Given the description of an element on the screen output the (x, y) to click on. 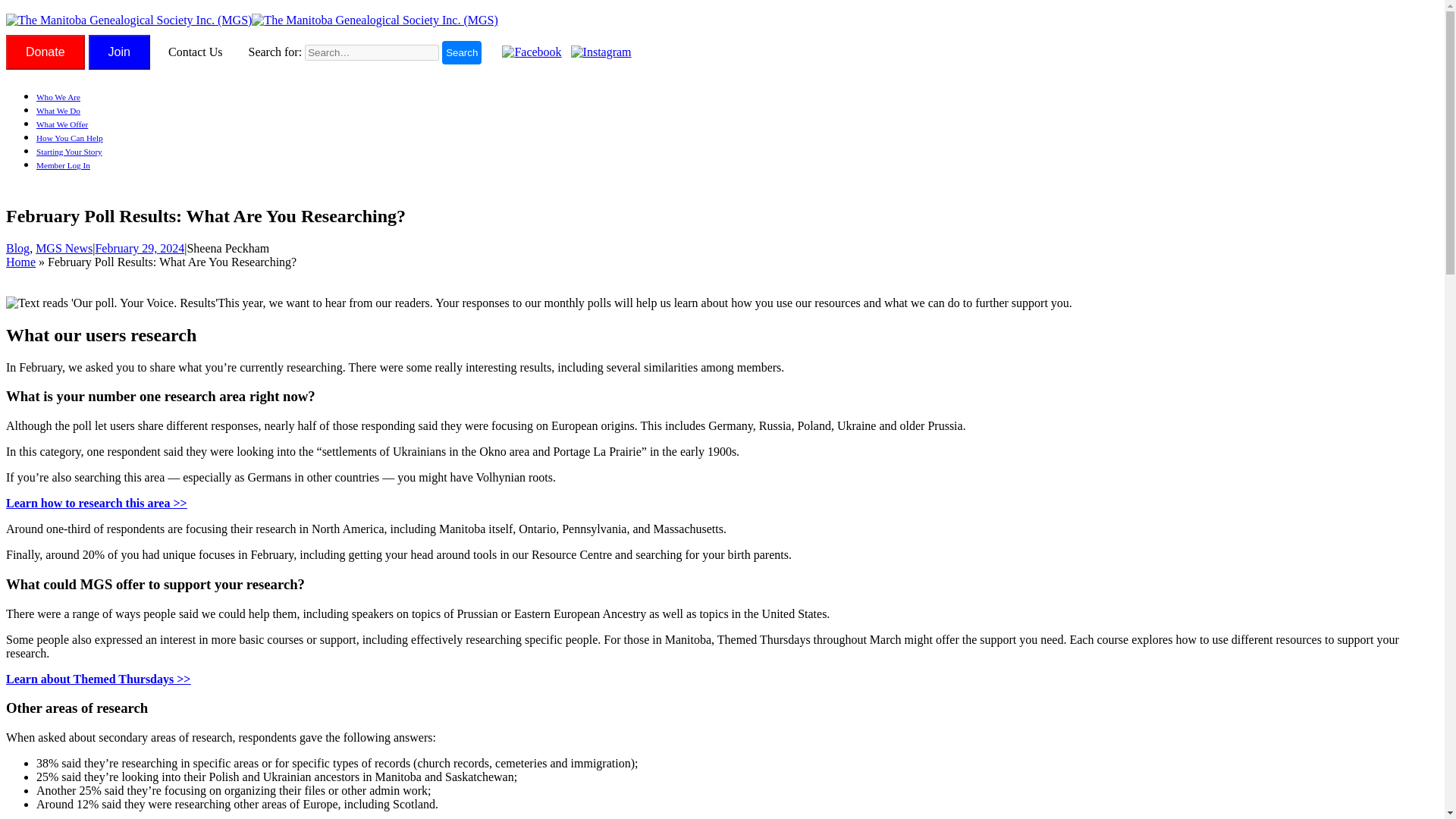
Member Log In (66, 165)
How You Can Help (73, 137)
What We Offer (66, 124)
Contact Us (195, 51)
Starting Your Story (73, 151)
Who We Are (61, 96)
Join (118, 52)
What We Do (61, 110)
MGS News (63, 247)
Donate (44, 52)
Blog (17, 247)
February 29, 2024 (139, 247)
Search (461, 52)
Home (19, 261)
